Given the description of an element on the screen output the (x, y) to click on. 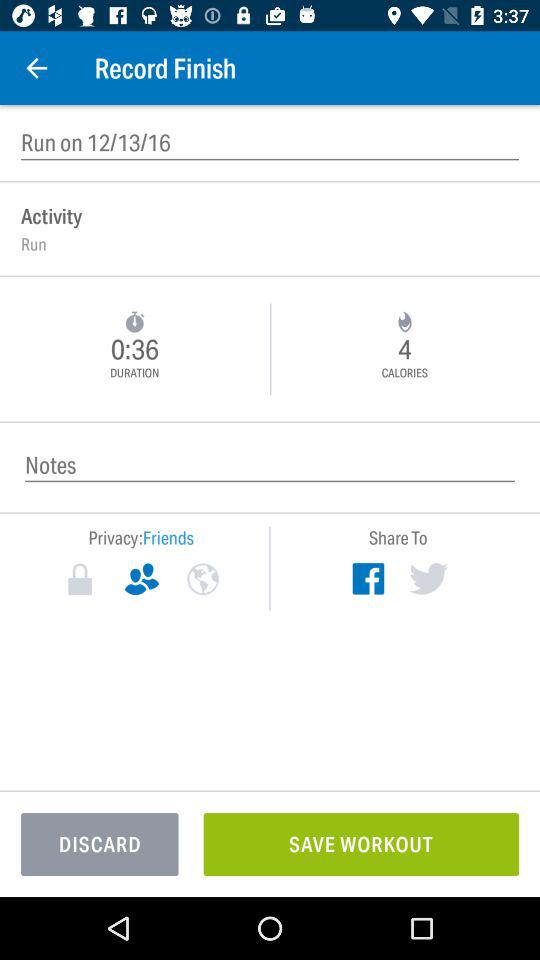
tap the icon to the left of save workout (99, 844)
